Given the description of an element on the screen output the (x, y) to click on. 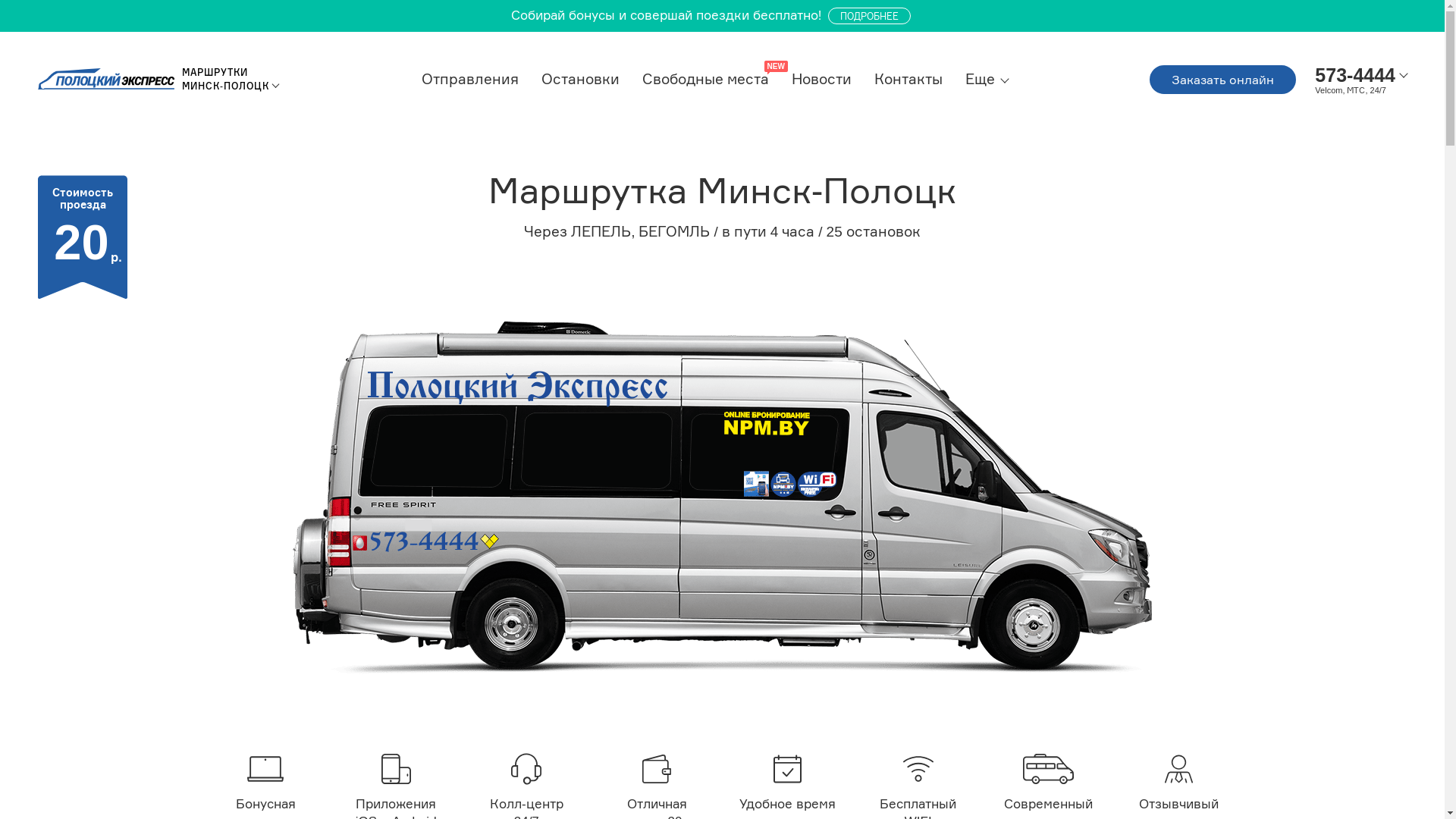
573-4444 Element type: text (1354, 74)
